Given the description of an element on the screen output the (x, y) to click on. 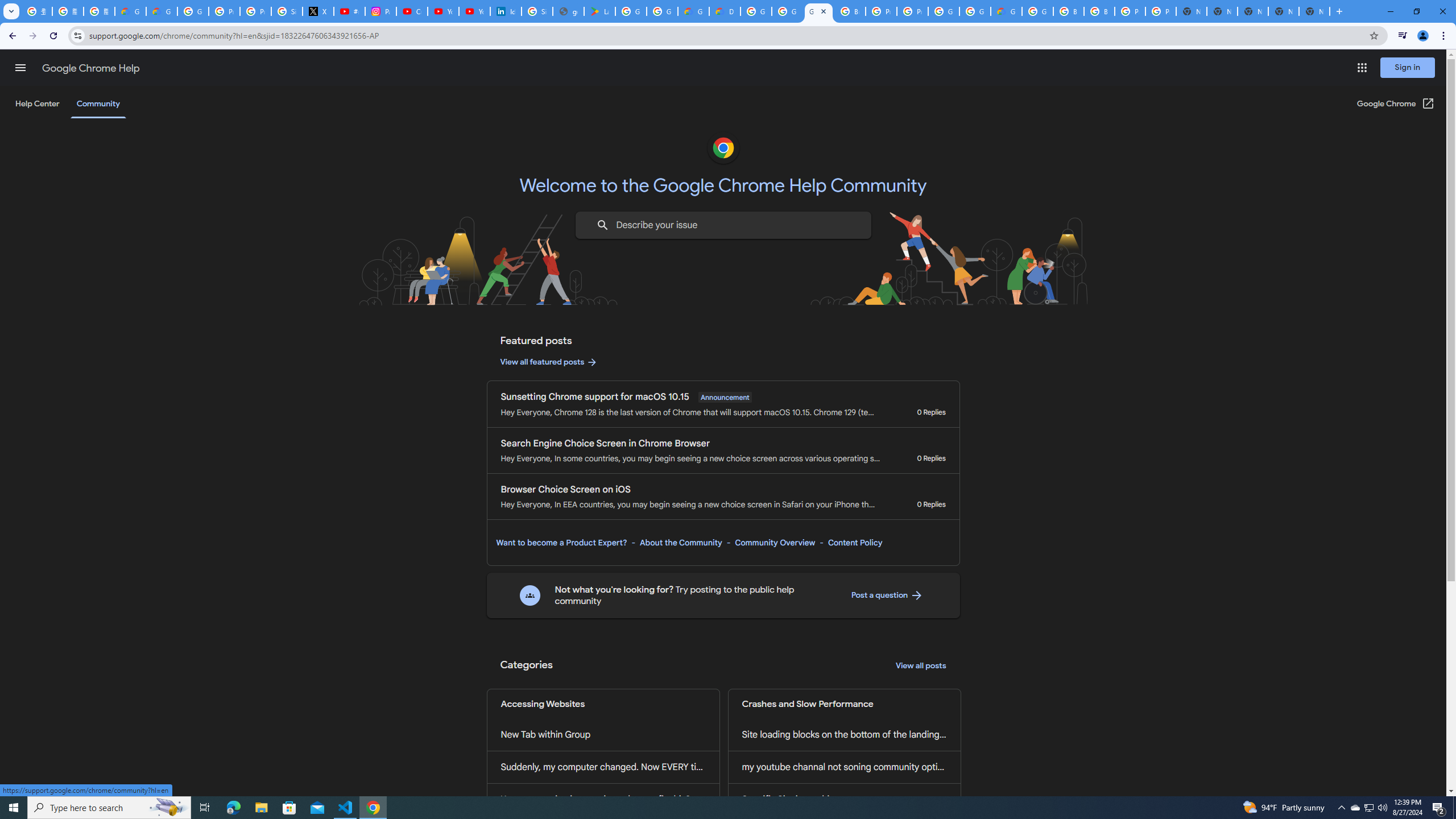
About the Community (680, 542)
Google Cloud Platform (943, 11)
#nbabasketballhighlights - YouTube (349, 11)
Privacy Help Center - Policies Help (255, 11)
X (318, 11)
